Given the description of an element on the screen output the (x, y) to click on. 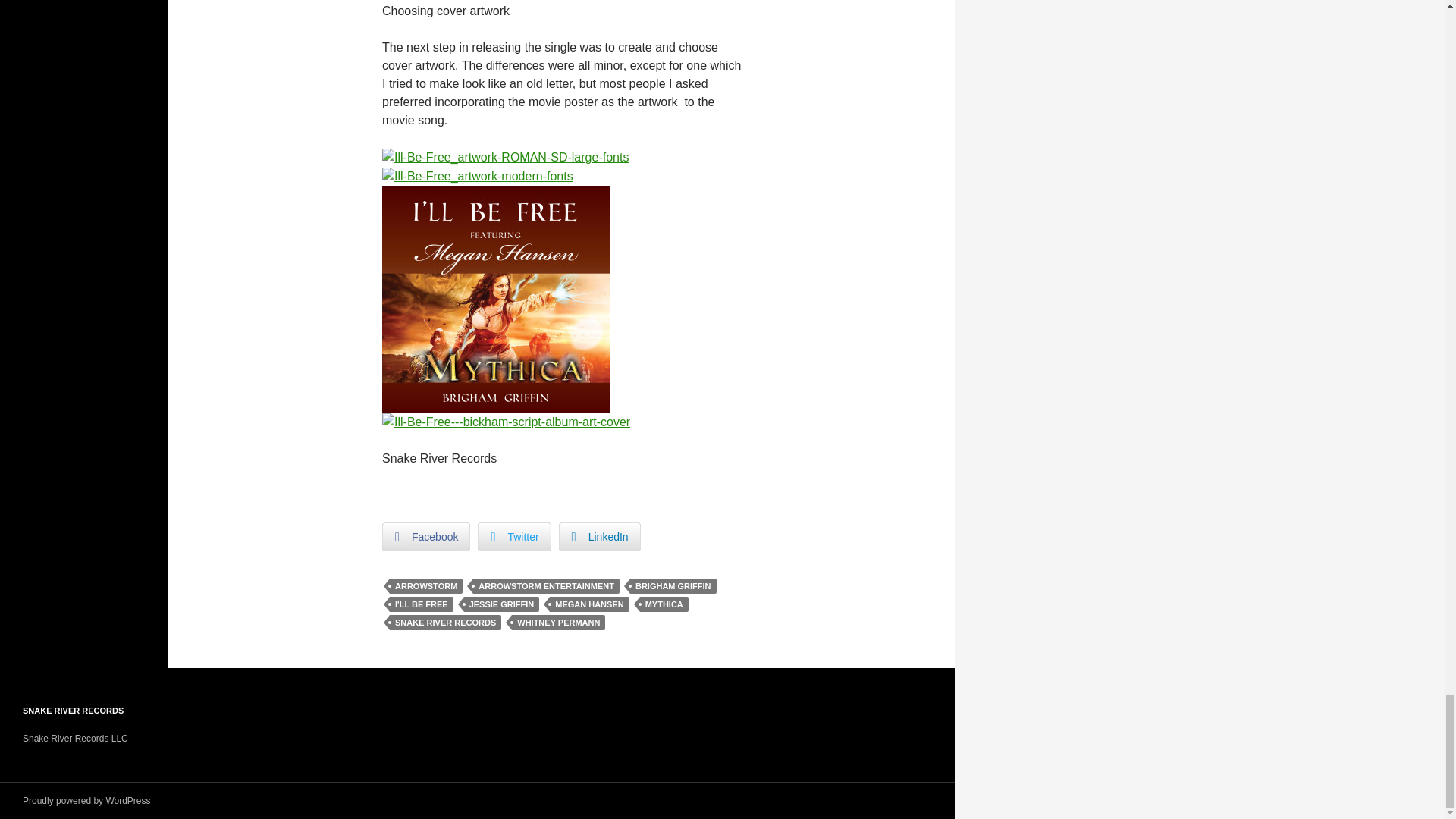
Twitter (513, 536)
Facebook (425, 536)
